Given the description of an element on the screen output the (x, y) to click on. 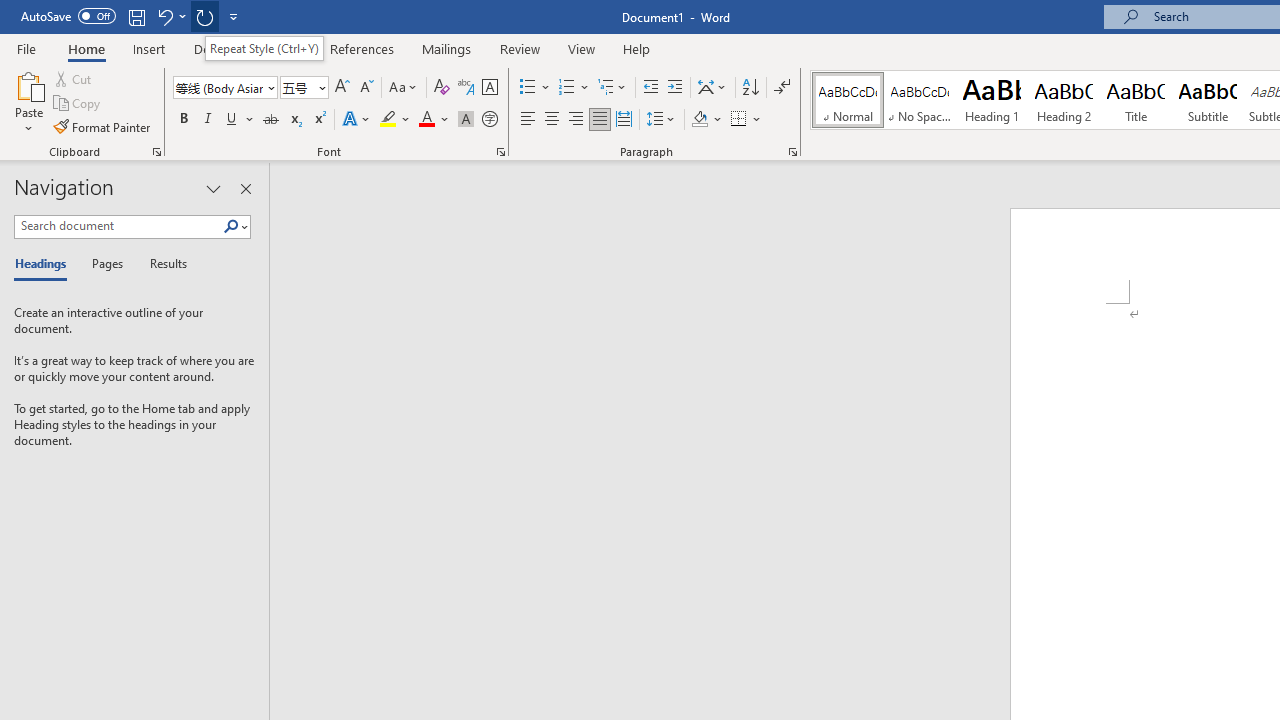
Save (136, 15)
Multilevel List (613, 87)
Help (637, 48)
Enclose Characters... (489, 119)
Shading RGB(0, 0, 0) (699, 119)
Font (218, 87)
Repeat Style (Ctrl+Y) (263, 48)
Open (320, 87)
Subtitle (1208, 100)
AutoSave (68, 16)
Heading 1 (991, 100)
Distributed (623, 119)
Paste (28, 84)
Increase Indent (675, 87)
Font Color Red (426, 119)
